Given the description of an element on the screen output the (x, y) to click on. 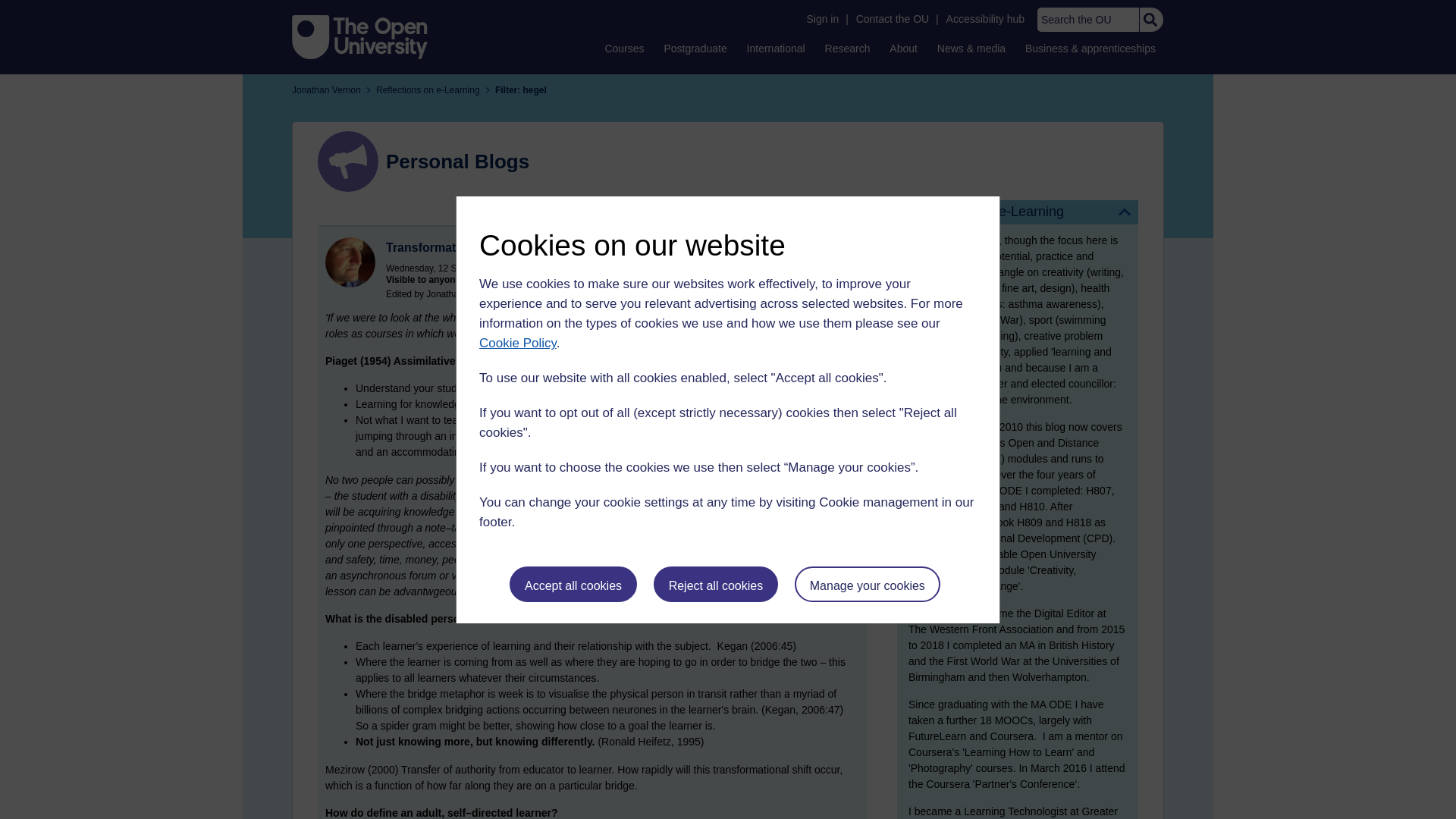
The Open University (360, 36)
Reject all cookies (715, 583)
Cookie Policy (517, 342)
Search (1149, 19)
Research (847, 48)
Courses (623, 48)
Reflections on e-Learning (1017, 211)
Accessibility hub (985, 19)
Contact the OU (892, 19)
Sign in (822, 19)
